Given the description of an element on the screen output the (x, y) to click on. 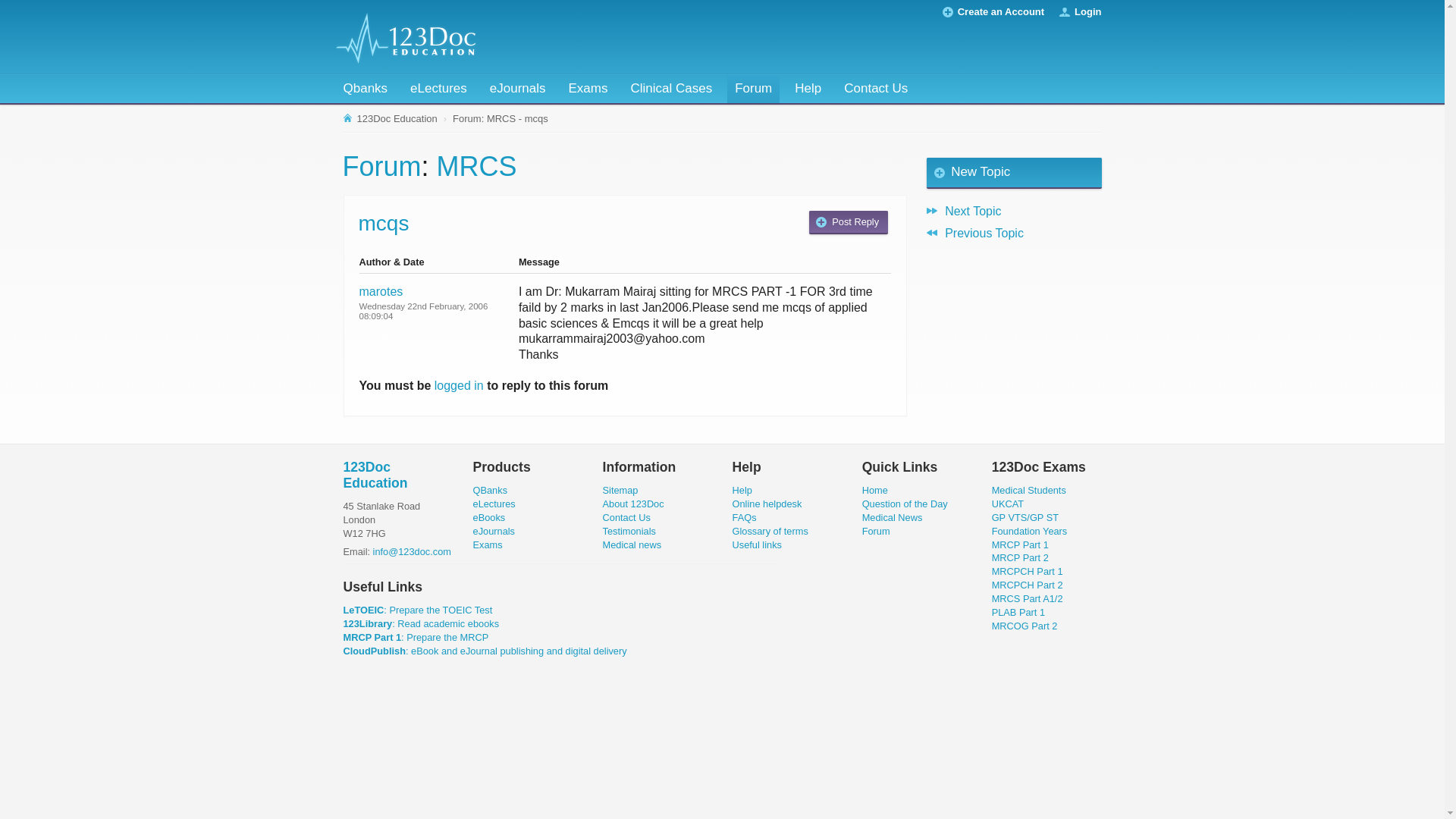
Useful links Element type: text (756, 544)
Home Element type: text (875, 489)
UKCAT Element type: text (1007, 503)
eJournals Element type: text (517, 89)
Help Element type: text (807, 89)
Contact Us Element type: text (875, 89)
PLAB Part 1 Element type: text (1017, 612)
Exams Element type: text (487, 544)
FAQs Element type: text (744, 517)
Help Element type: text (742, 489)
MRCP Part 2 Element type: text (1019, 557)
Exams Element type: text (587, 89)
QBanks Element type: text (490, 489)
Forum Element type: text (753, 89)
123Doc Education Element type: text (374, 474)
MRCP Part 1 Element type: text (1019, 544)
MRCP Part 1: Prepare the MRCP Element type: text (415, 637)
Qbanks Element type: text (365, 89)
Medical Students Element type: text (1028, 489)
Medical news Element type: text (632, 544)
MRCS Part A1/2 Element type: text (1027, 598)
Sitemap Element type: text (620, 489)
123Doc Education Element type: text (390, 118)
MRCS Element type: text (476, 166)
Medical News Element type: text (892, 517)
New Topic Element type: text (1013, 173)
Next Topic Element type: text (1013, 210)
MRCOG Part 2 Element type: text (1024, 625)
eJournals Element type: text (494, 530)
123Library: Read academic ebooks Element type: text (420, 623)
Create an Account Element type: text (1000, 11)
Forum: MRCS - mcqs Element type: text (500, 118)
info@123doc.com Element type: text (412, 551)
Glossary of terms Element type: text (770, 530)
Login Element type: text (1087, 11)
Testimonials Element type: text (628, 530)
Question of the Day Element type: text (904, 503)
Online helpdesk Element type: text (767, 503)
logged in Element type: text (458, 385)
Forum Element type: text (876, 530)
Contact Us Element type: text (626, 517)
eLectures Element type: text (494, 503)
Clinical Cases Element type: text (670, 89)
MRCPCH Part 1 Element type: text (1027, 571)
Previous Topic Element type: text (1013, 232)
About 123Doc Element type: text (633, 503)
Post Reply Element type: text (848, 222)
eBooks Element type: text (489, 517)
Foundation Years Element type: text (1029, 530)
eLectures Element type: text (438, 89)
GP VTS/GP ST Element type: text (1024, 517)
marotes Element type: text (381, 291)
MRCPCH Part 2 Element type: text (1027, 584)
Forum Element type: text (381, 166)
LeTOEIC: Prepare the TOEIC Test Element type: text (417, 609)
